Given the description of an element on the screen output the (x, y) to click on. 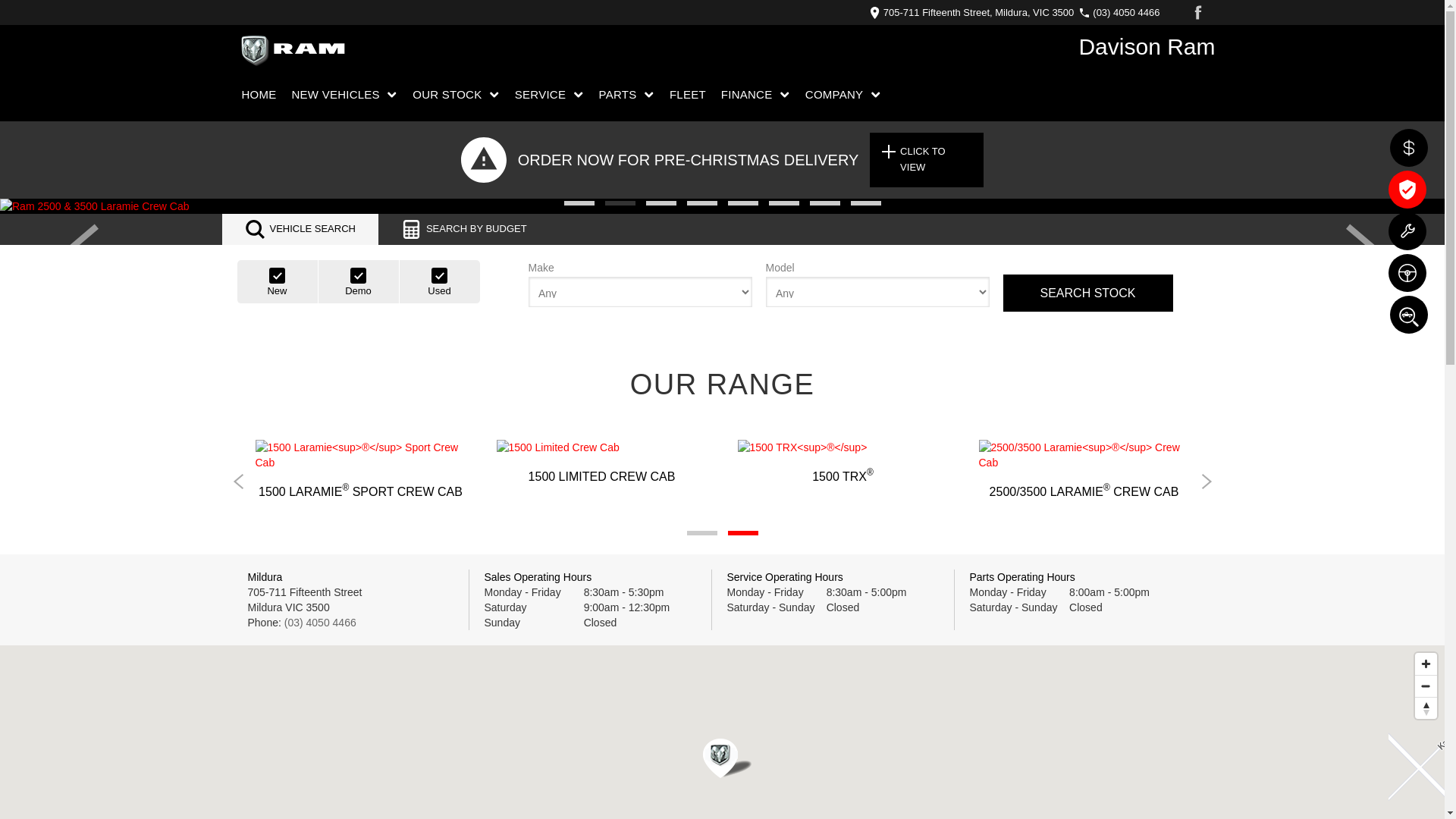
(03) 4050 4466 Element type: text (1122, 12)
PARTS Element type: text (626, 94)
705-711 Fifteenth Street, Mildura, VIC 3500 Element type: text (974, 12)
NEW VEHICLES Element type: text (344, 94)
FLEET Element type: text (687, 94)
VEHICLE SEARCH Element type: text (299, 228)
SEARCH STOCK Element type: text (1087, 292)
SEARCH BY BUDGET Element type: text (463, 228)
Zoom in Element type: hover (1426, 663)
SERVICE Element type: text (549, 94)
HOME Element type: text (261, 94)
FINANCE Element type: text (755, 94)
Zoom out Element type: hover (1426, 685)
COMPANY Element type: text (843, 94)
Reset bearing to north Element type: hover (1426, 707)
OUR STOCK Element type: text (455, 94)
(03) 4050 4466 Element type: text (320, 622)
ORDER NOW FOR PRE-CHRISTMAS DELIVERY
CLICK TO VIEW Element type: text (722, 159)
1500 LIMITED CREW CAB Element type: text (600, 461)
